Given the description of an element on the screen output the (x, y) to click on. 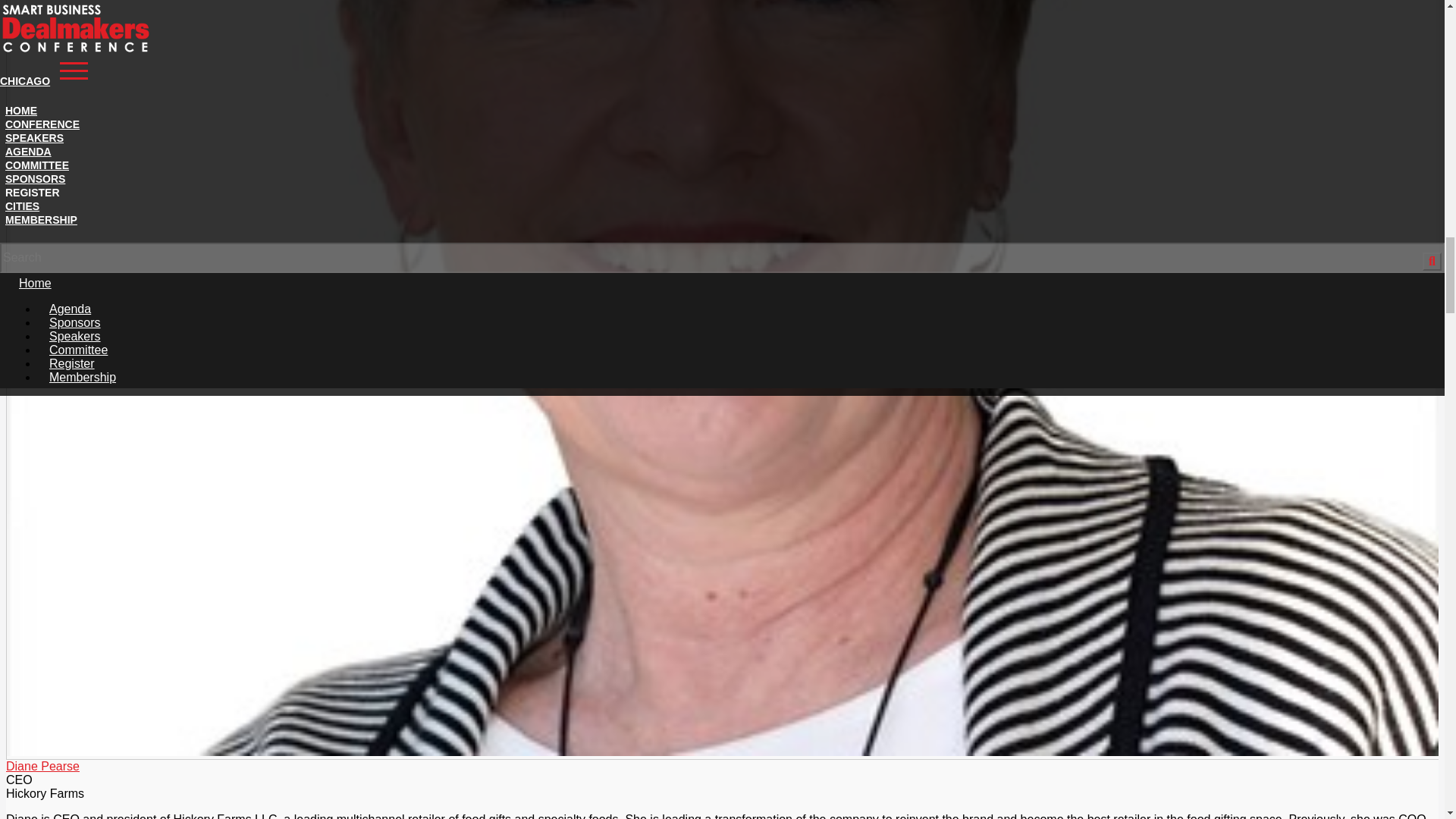
Diane Pearse (42, 766)
